Given the description of an element on the screen output the (x, y) to click on. 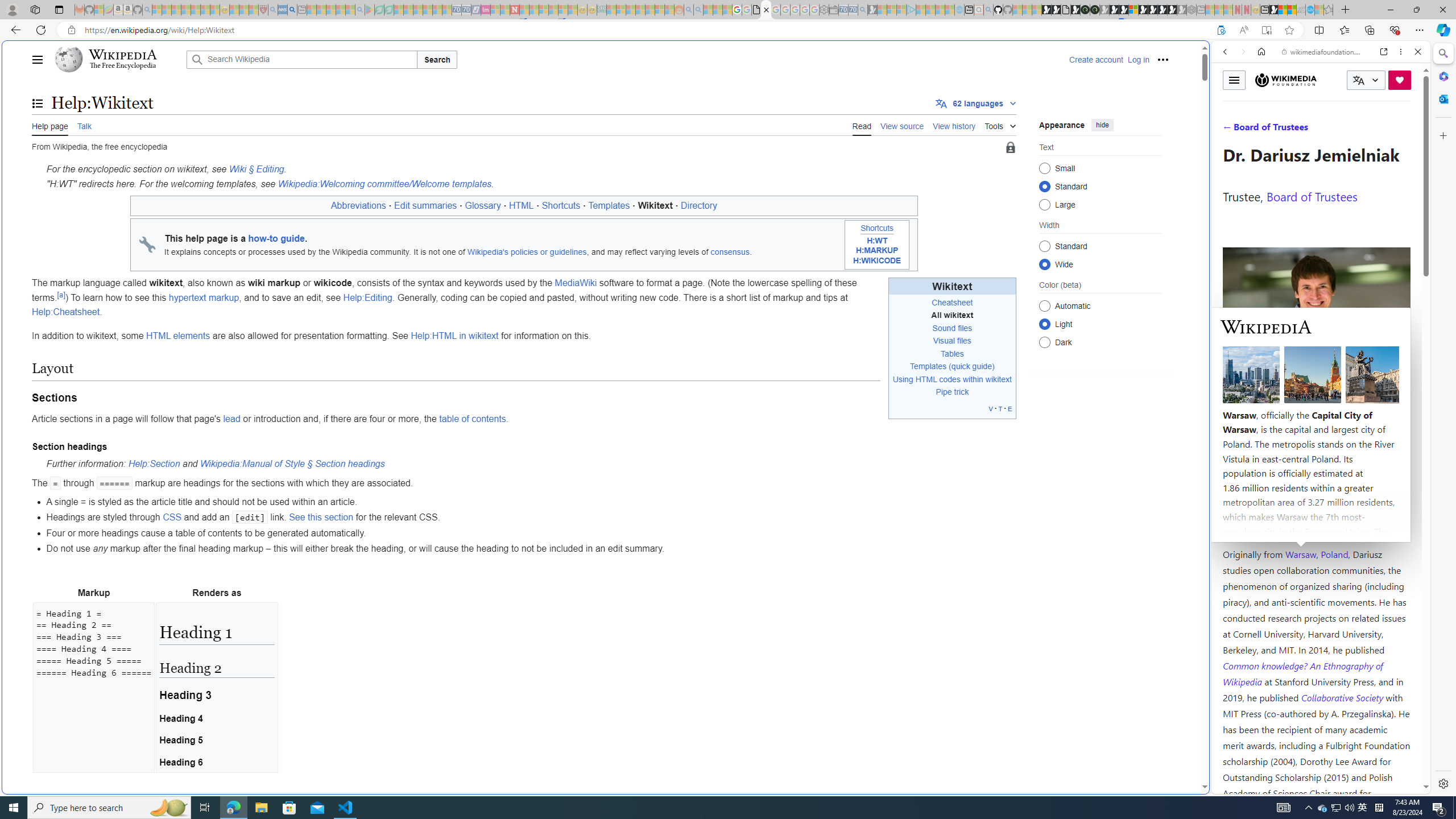
Sign in to your account (1133, 9)
Forward (1242, 51)
View source (902, 124)
[a] (60, 293)
Warsaw (1300, 554)
utah sues federal government - Search (291, 9)
Microsoft Start Gaming - Sleeping (872, 9)
H:WIKICODE (877, 260)
